Given the description of an element on the screen output the (x, y) to click on. 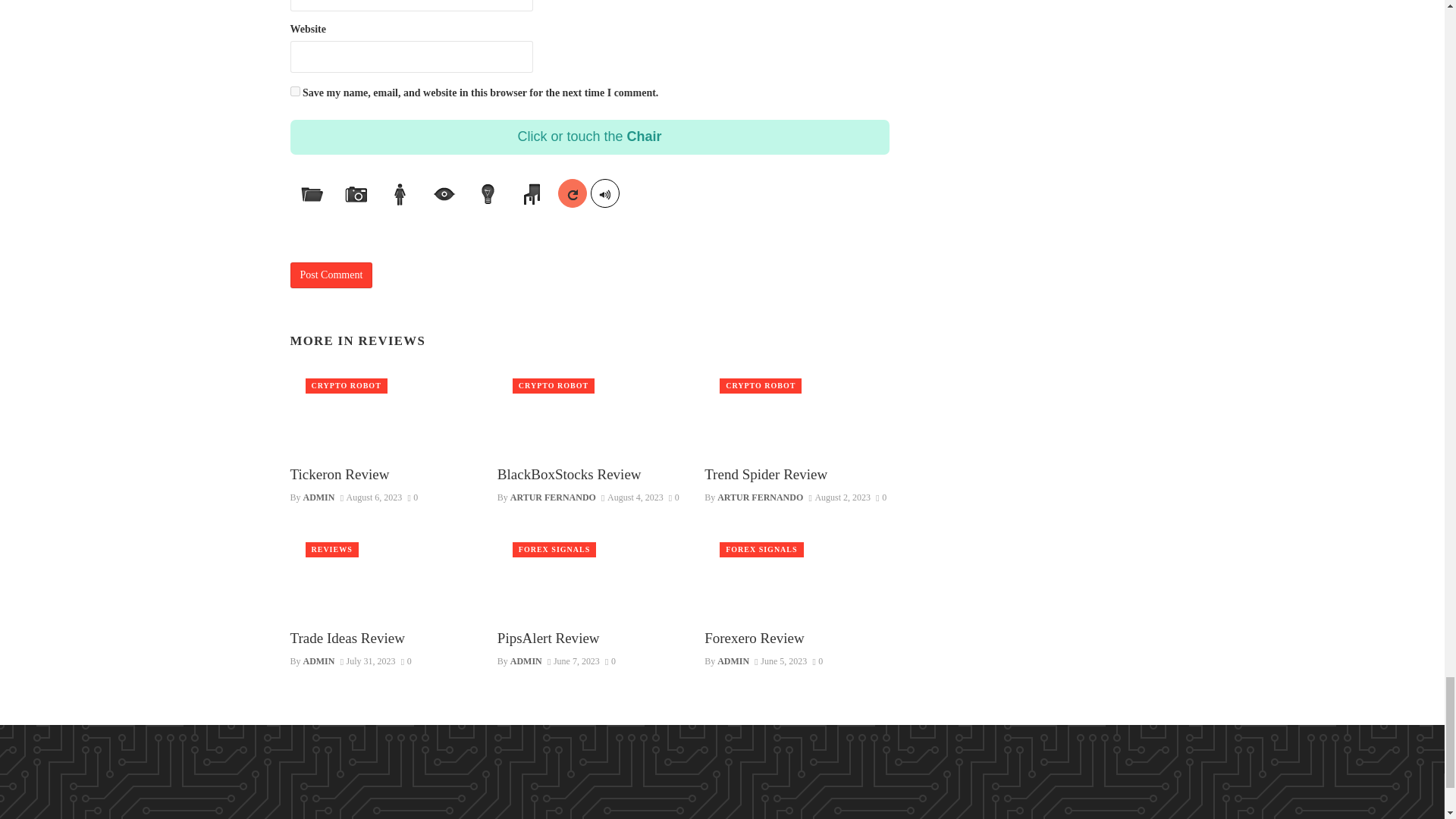
yes (294, 91)
Post Comment (330, 275)
